Given the description of an element on the screen output the (x, y) to click on. 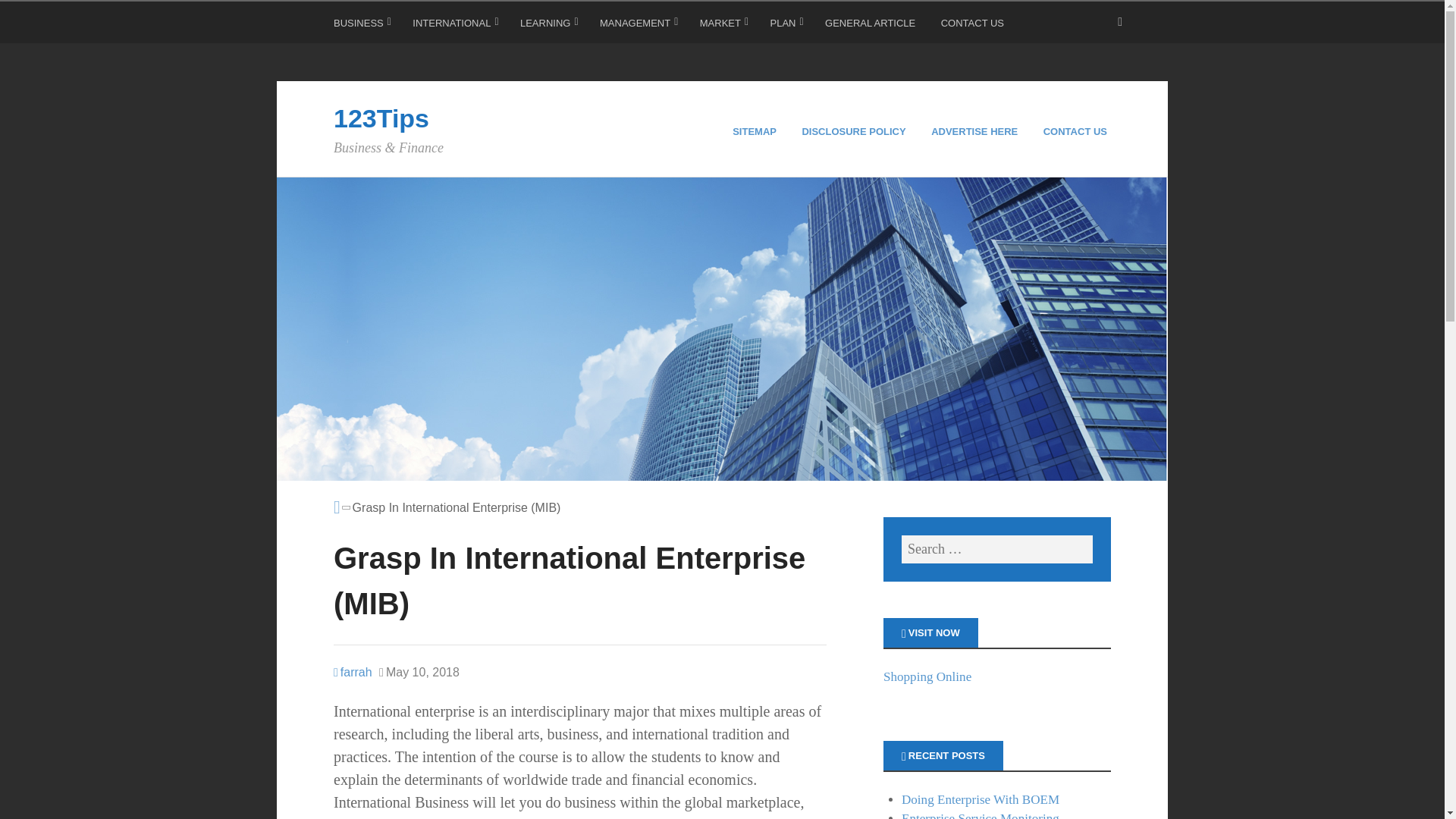
CONTACT US (1076, 131)
MANAGEMENT (638, 26)
DISCLOSURE POLICY (855, 131)
farrah (352, 671)
PLAN (786, 26)
Posts by farrah (352, 671)
Thursday, May 10, 2018, 9:41 pm (419, 672)
123Tips (381, 118)
ADVERTISE HERE (976, 131)
INTERNATIONAL (454, 26)
